Given the description of an element on the screen output the (x, y) to click on. 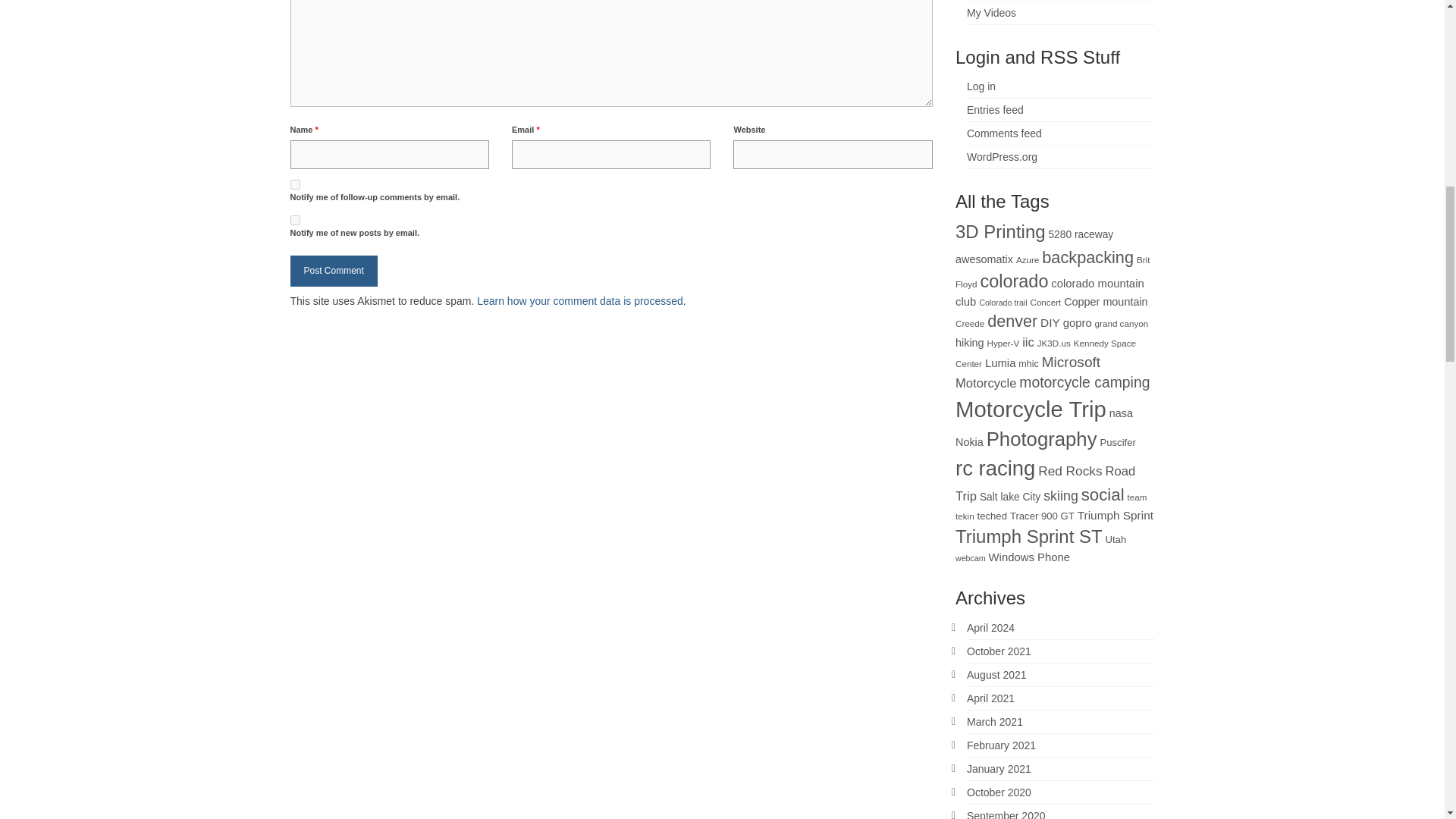
Post Comment (333, 270)
Learn how your comment data is processed (579, 300)
Post Comment (333, 270)
subscribe (294, 220)
subscribe (294, 184)
